Given the description of an element on the screen output the (x, y) to click on. 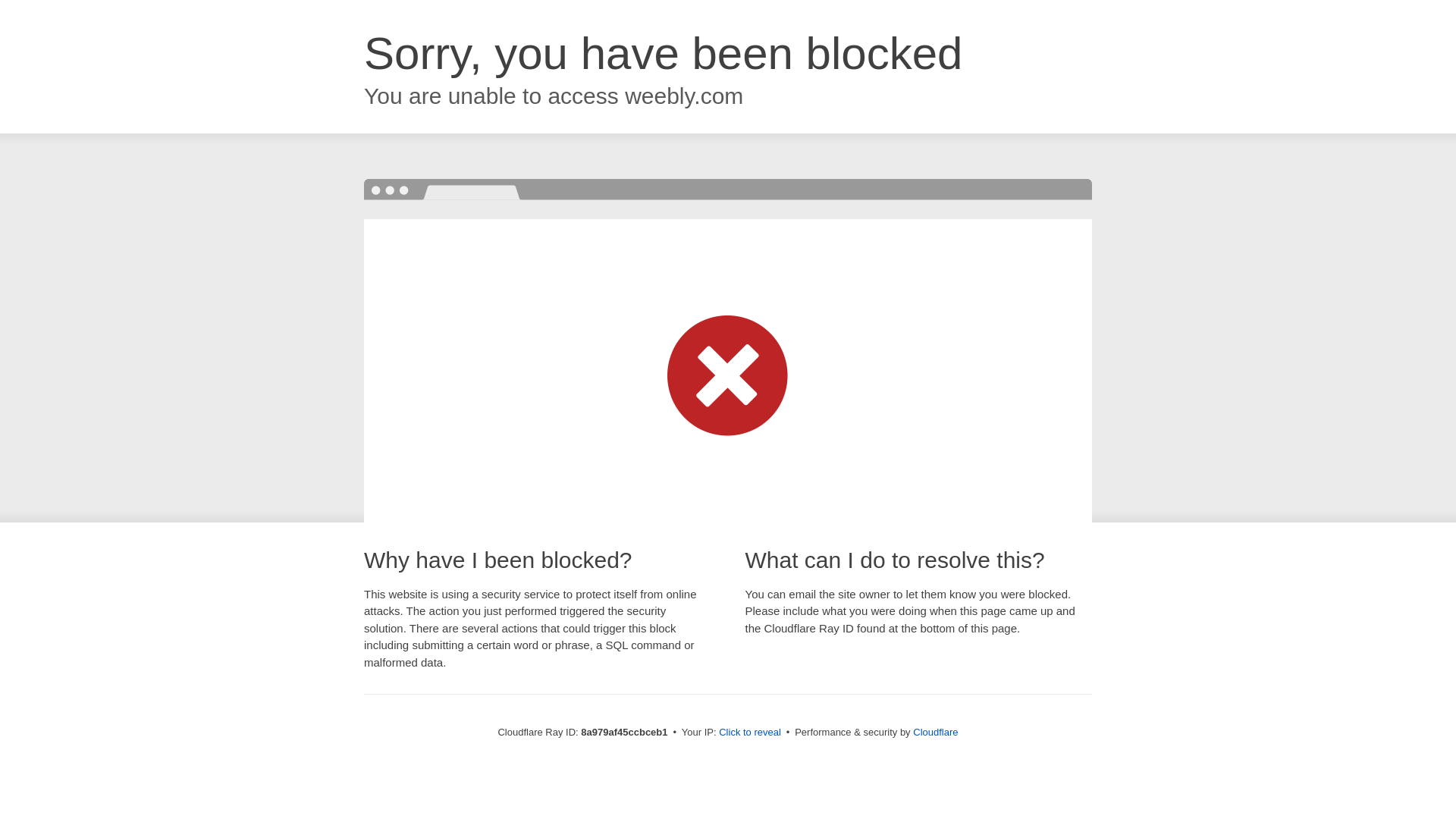
Click to reveal (749, 732)
Cloudflare (935, 731)
